Given the description of an element on the screen output the (x, y) to click on. 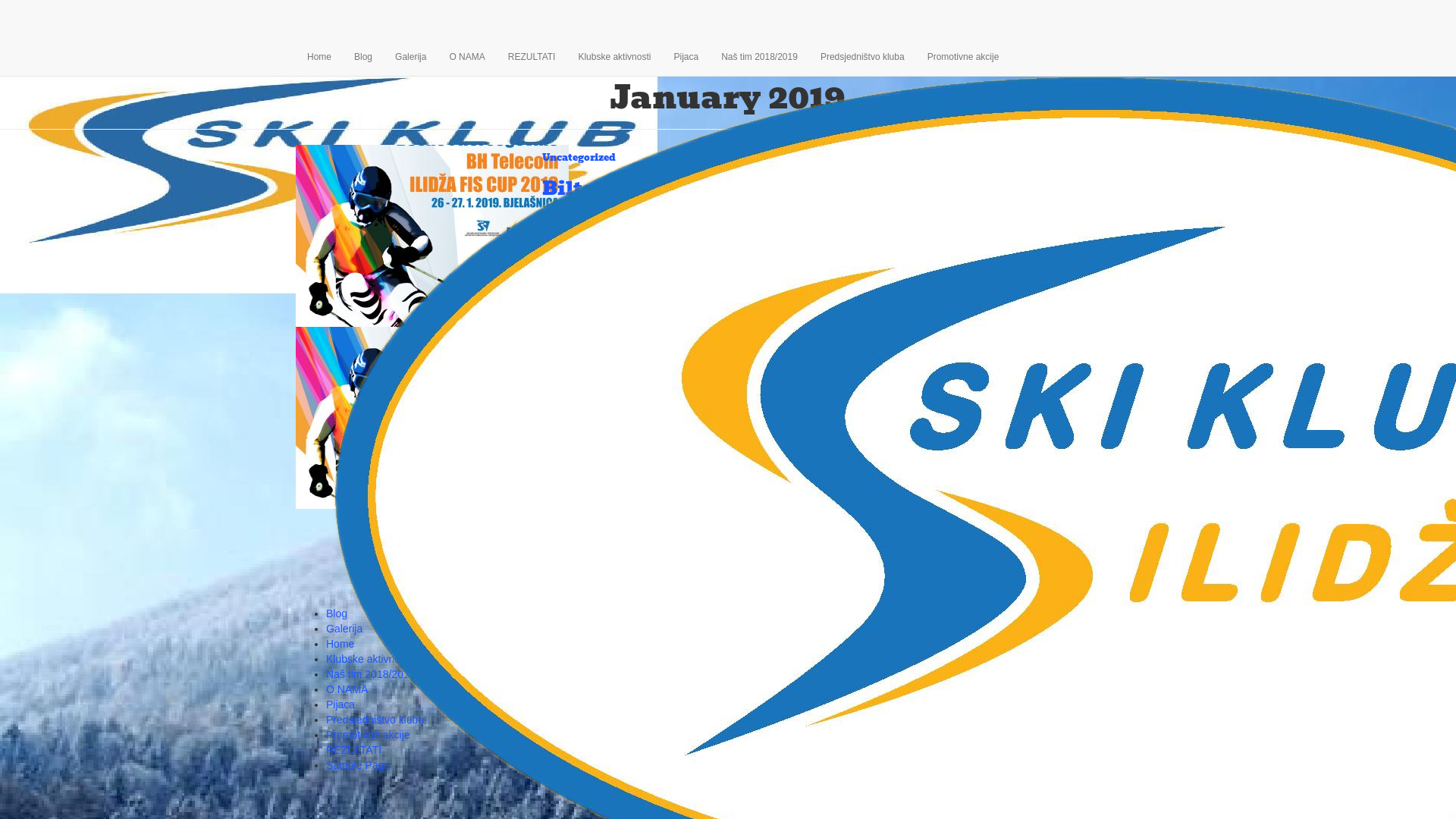
Uncategorized Element type: text (578, 157)
Bilten 2019 Element type: text (600, 187)
Klubske aktivnosti Element type: text (368, 658)
Blog Element type: text (336, 613)
skiilidza Element type: text (577, 592)
Home Element type: text (318, 56)
O NAMA Element type: text (466, 56)
October 2018 Element type: text (1023, 430)
REZULTATI Element type: text (353, 749)
Galerija Element type: text (410, 56)
O NAMA Element type: text (346, 689)
Log in Element type: text (1005, 545)
Pijaca Element type: text (340, 704)
Klubske aktivnosti Element type: text (614, 56)
skiilidza Element type: text (577, 236)
ThemeIsle Element type: text (1135, 613)
5 years ago Element type: text (631, 236)
Sample Page Element type: text (357, 765)
Bilten 2019 Element type: text (1017, 210)
Prvenstvo BiH Element type: text (578, 339)
Prvenstvo BiH Element type: text (1025, 480)
Promotivne akcije Element type: text (963, 56)
Pijaca Element type: text (685, 56)
Galerija Element type: text (344, 628)
5 years ago Element type: text (631, 592)
Promotivne akcije Element type: text (368, 734)
Home Element type: text (340, 643)
REZULTATI Element type: text (531, 56)
Search Element type: text (1134, 154)
Bilten 2019 Element type: hover (431, 235)
Comments RSS Element type: text (1029, 575)
Uncategorized Element type: text (1025, 495)
WordPress.org Element type: text (1026, 590)
Blog Element type: text (362, 56)
January 2019 Element type: text (1023, 415)
Entries RSS Element type: text (1020, 560)
